Given the description of an element on the screen output the (x, y) to click on. 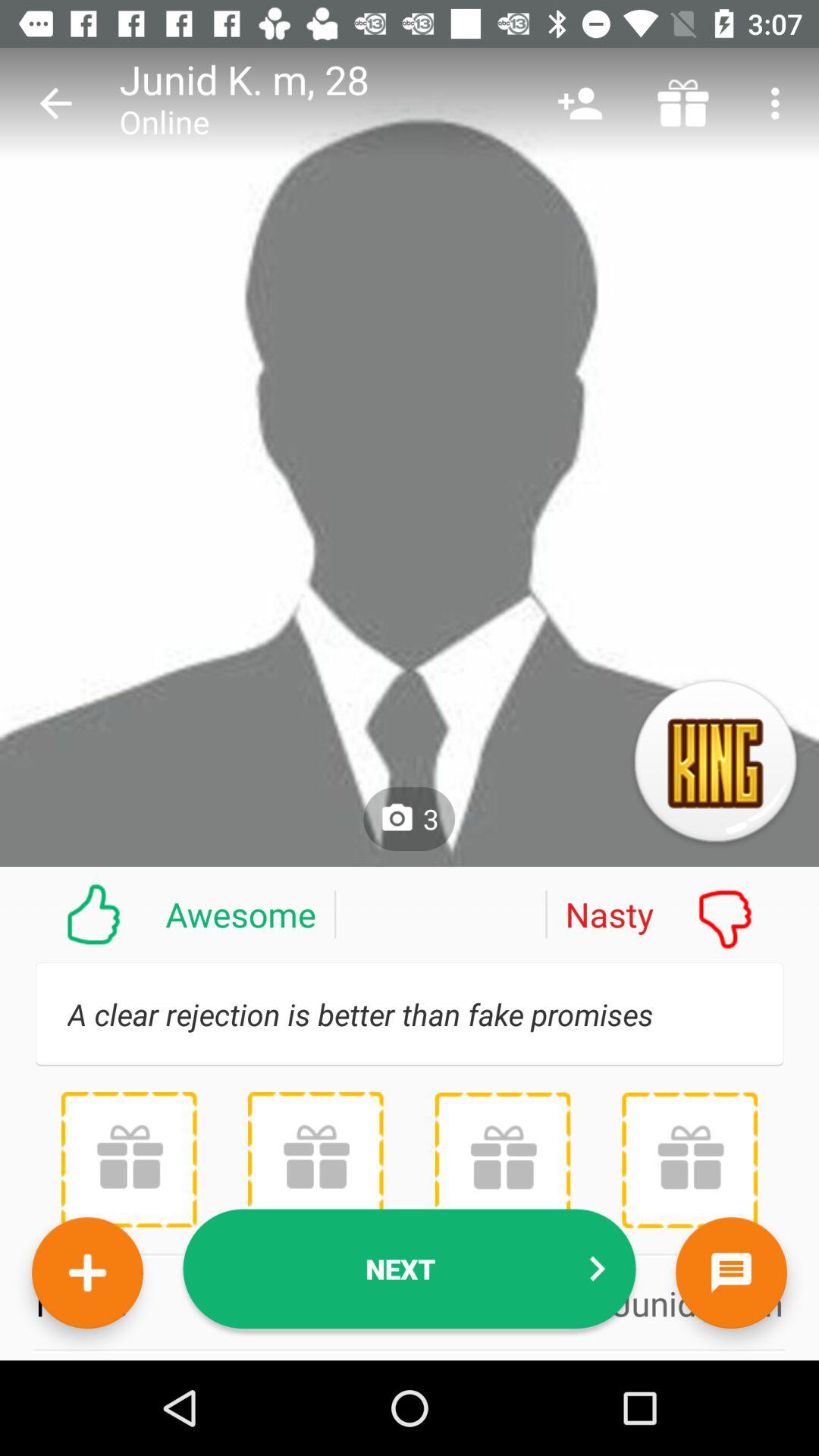
choose icon below a clear rejection icon (409, 1268)
